Given the description of an element on the screen output the (x, y) to click on. 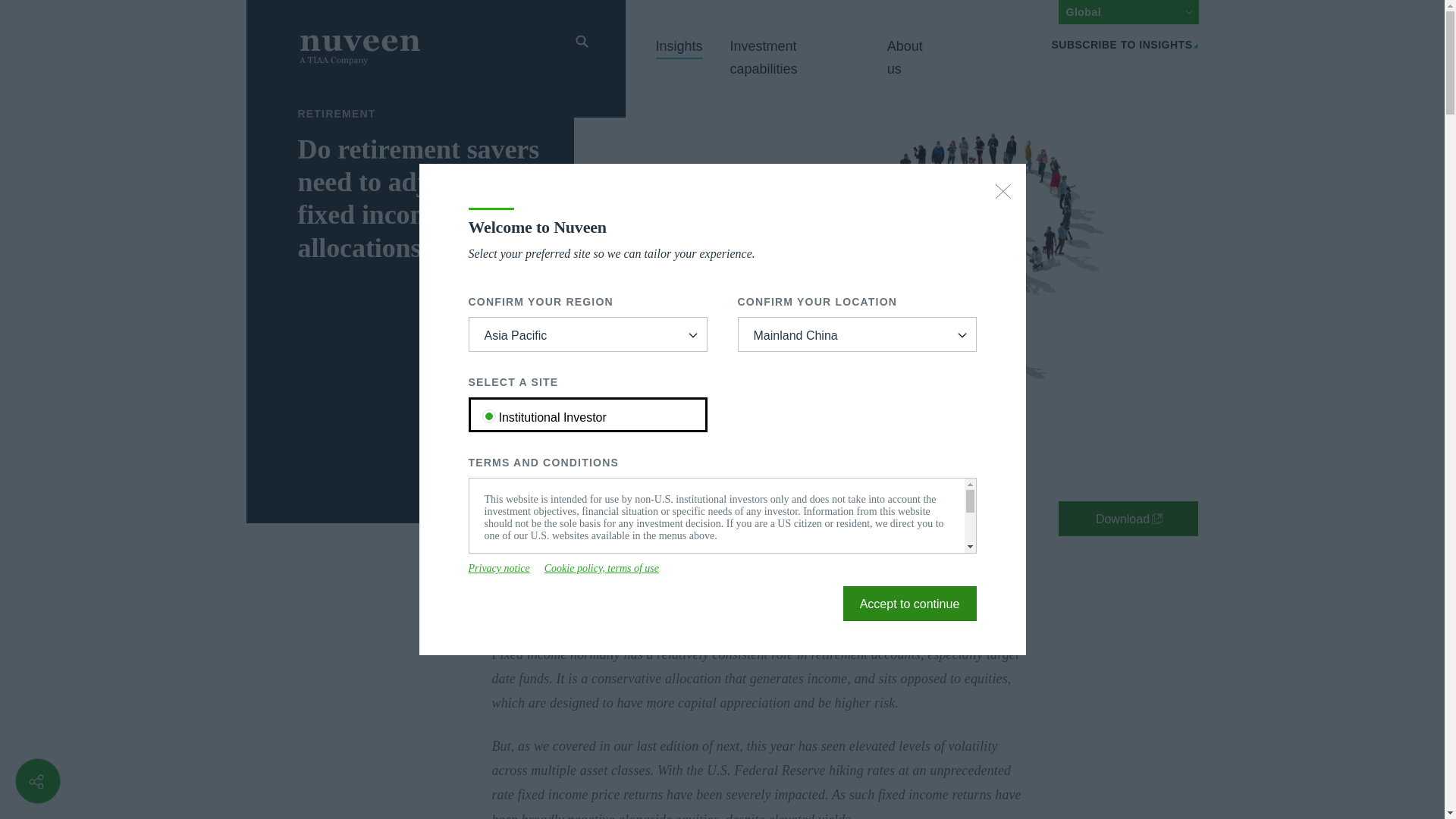
opens in a new window (601, 568)
Skip to main content (236, 9)
opens in the same window (909, 603)
opens in a new window (1128, 518)
SUBSCRIBE TO INSIGHTS (1124, 44)
opens in a new window (498, 568)
Global (1128, 12)
